Given the description of an element on the screen output the (x, y) to click on. 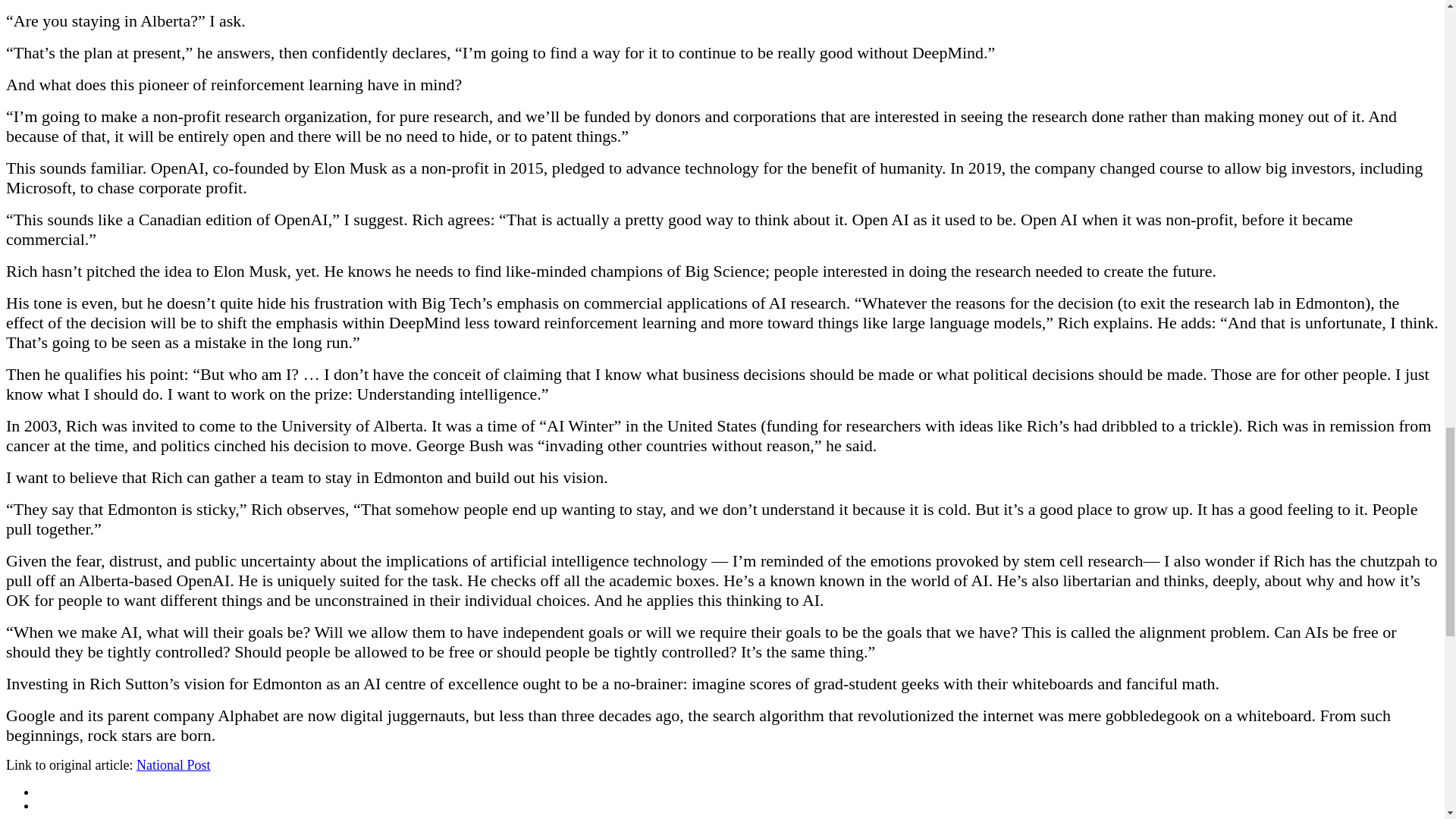
National Post (173, 765)
